Given the description of an element on the screen output the (x, y) to click on. 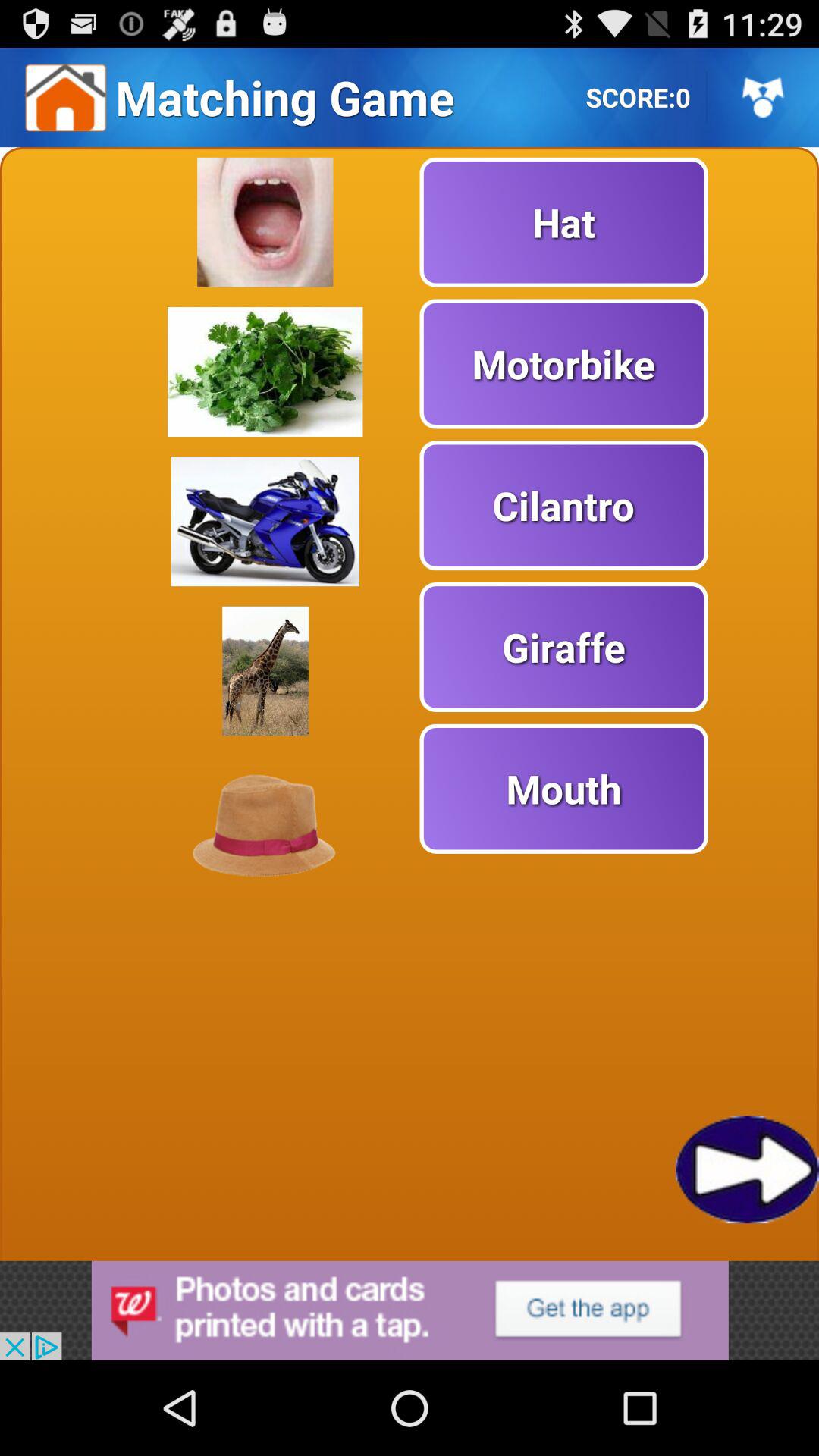
go to next page (747, 1169)
